Given the description of an element on the screen output the (x, y) to click on. 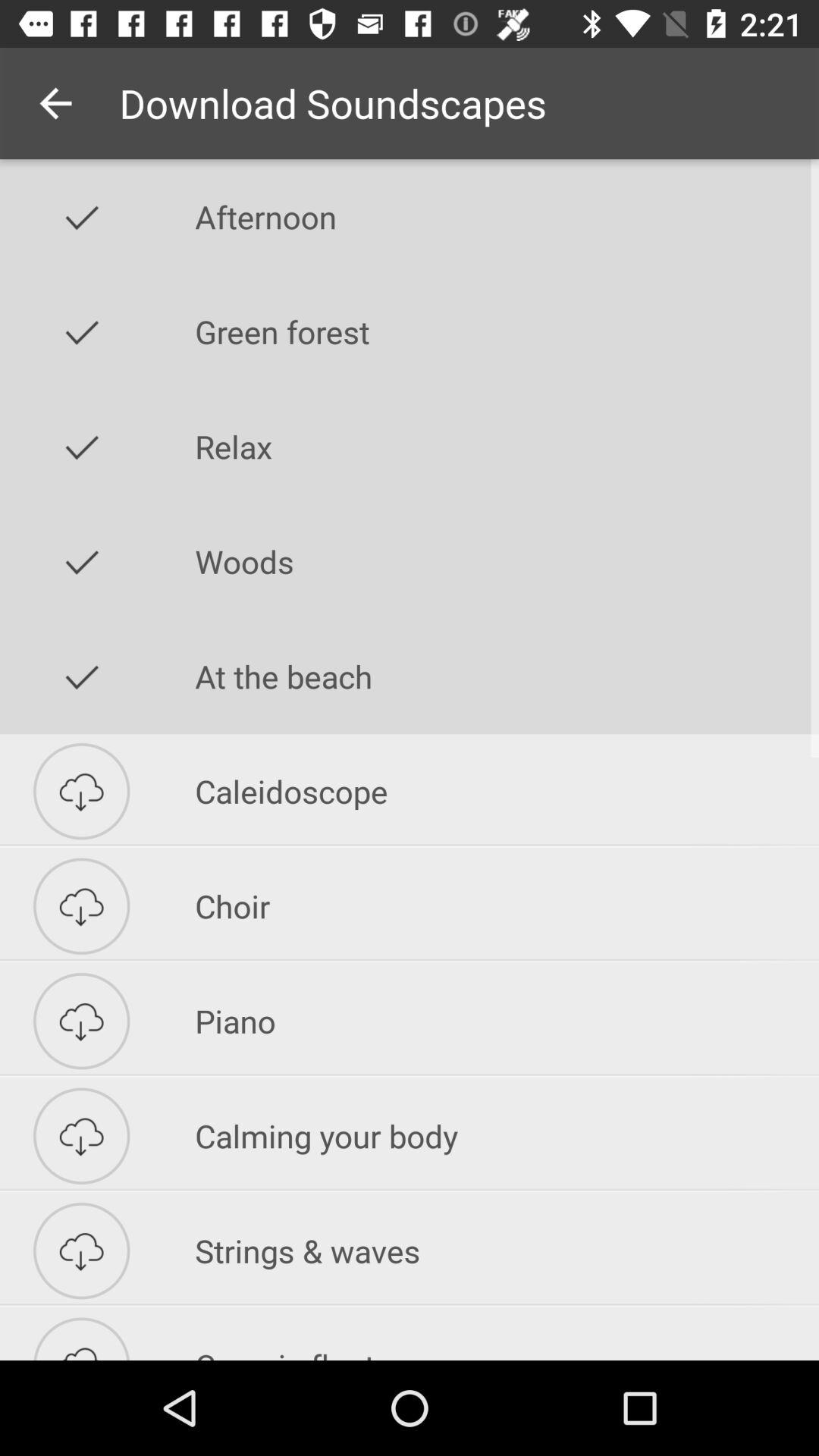
flip until caleidoscope item (507, 791)
